Given the description of an element on the screen output the (x, y) to click on. 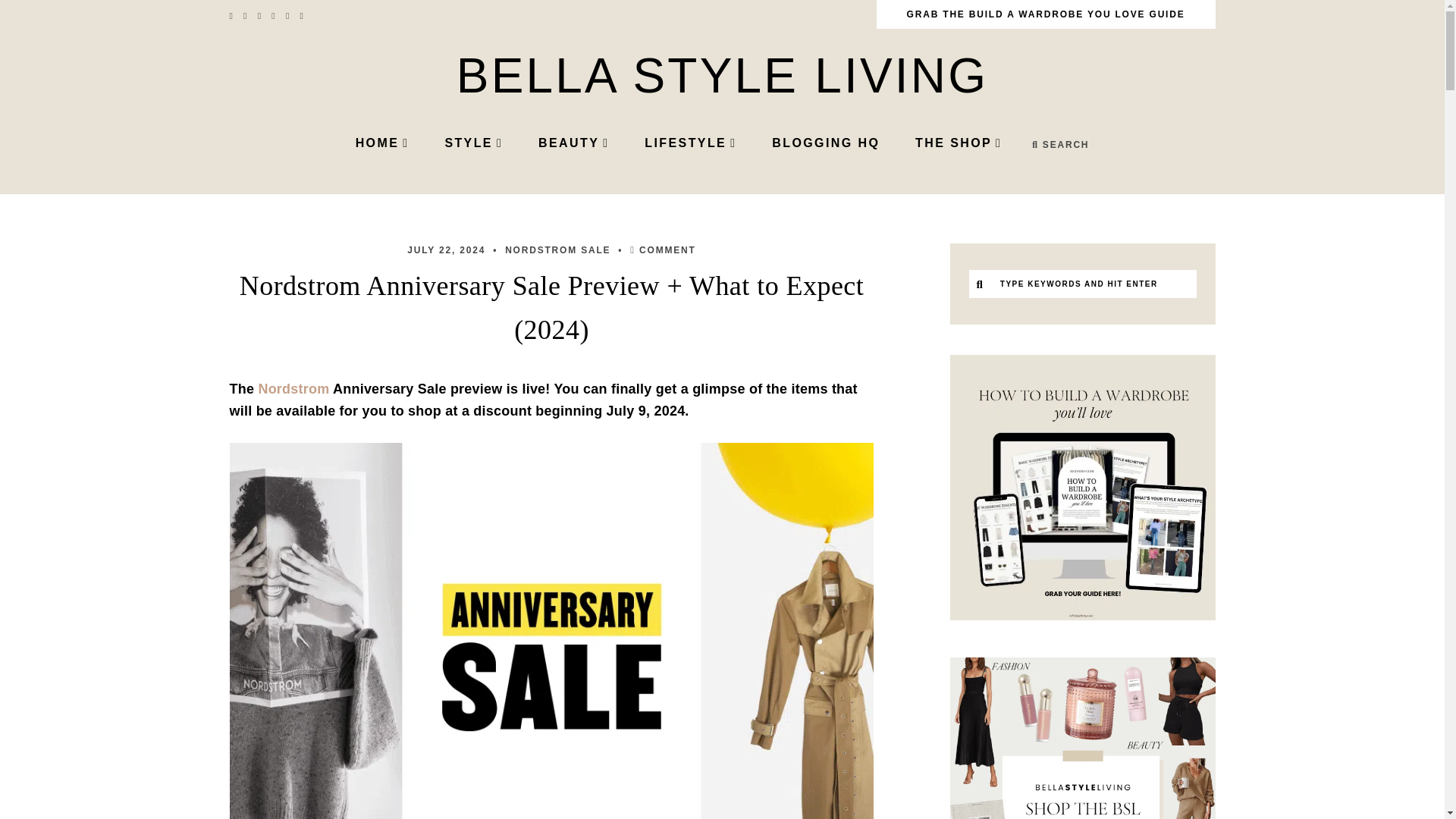
Bella Style Living (722, 75)
Type keywords and hit enter (1078, 283)
Type keywords and hit enter (1078, 283)
View all posts in Nordstrom Sale (557, 249)
